Given the description of an element on the screen output the (x, y) to click on. 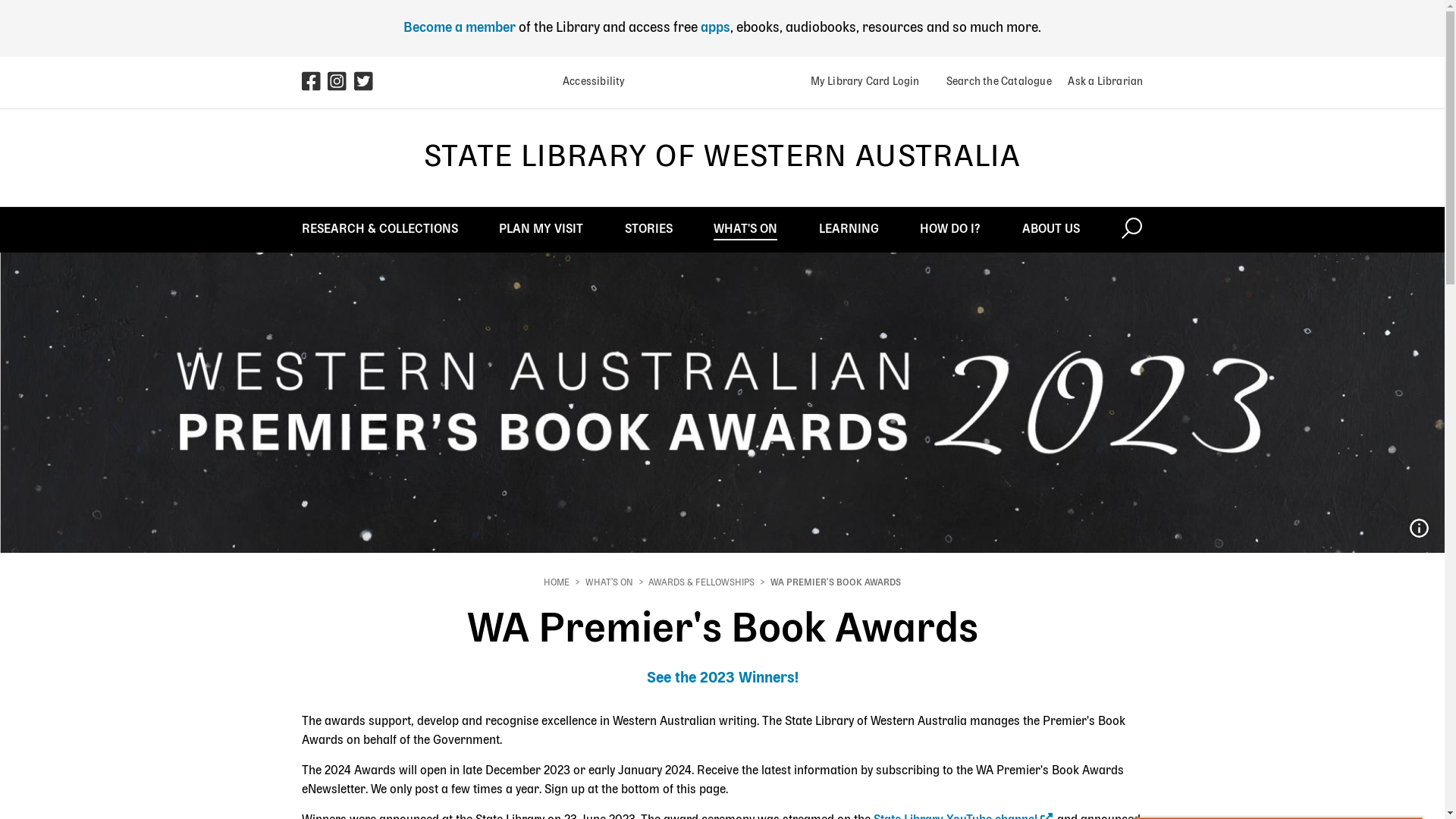
Accessibility Element type: text (588, 82)
CMD745 PBA2023 generic banner title treatment Element type: text (1418, 528)
STATE LIBRARY OF WESTERN AUSTRALIA Element type: text (721, 157)
See the 2023 Winners! Element type: text (721, 678)
Facebook Element type: hover (311, 86)
Instagram Element type: hover (337, 86)
ABOUT US Element type: text (1050, 228)
HOW DO I? Element type: text (949, 228)
Twitter Element type: text (367, 82)
apps Element type: text (715, 27)
Facebook Element type: text (314, 82)
PLAN MY VISIT Element type: text (540, 228)
WHAT'S ON Element type: text (609, 582)
STORIES Element type: text (648, 228)
AWARDS & FELLOWSHIPS Element type: text (701, 582)
Ask a Librarian Element type: text (1098, 82)
RESEARCH & COLLECTIONS Element type: text (379, 228)
Twitter Element type: hover (364, 86)
WHAT'S ON Element type: text (745, 228)
Instagram Element type: text (340, 82)
Search Element type: text (1131, 228)
Become a member Element type: text (459, 27)
Skip to main content Element type: text (0, 0)
Search the Catalogue Element type: text (993, 82)
HOME Element type: text (556, 582)
My Library Card Login Element type: text (864, 82)
LEARNING Element type: text (848, 228)
